Given the description of an element on the screen output the (x, y) to click on. 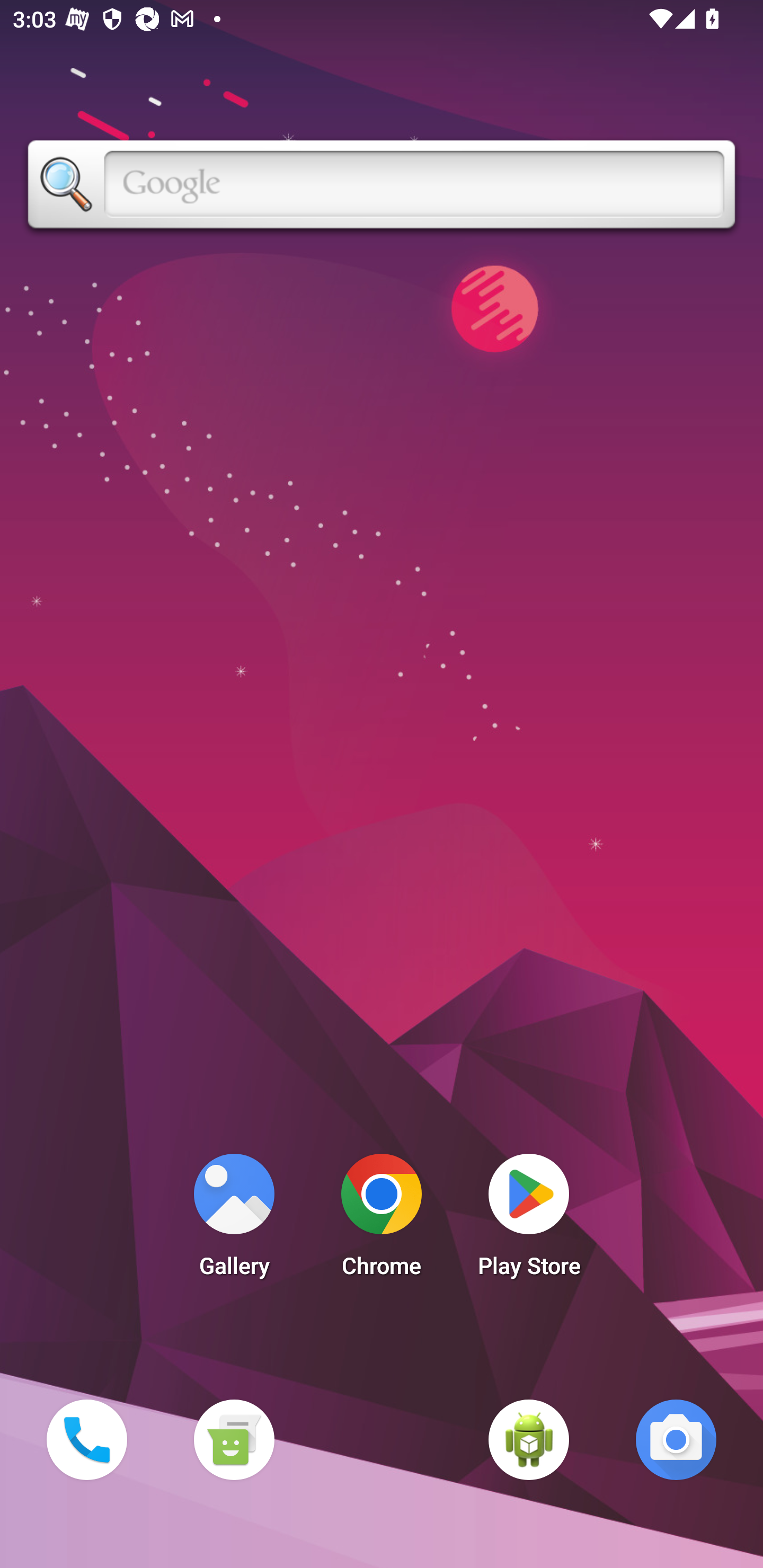
Gallery (233, 1220)
Chrome (381, 1220)
Play Store (528, 1220)
Phone (86, 1439)
Messaging (233, 1439)
WebView Browser Tester (528, 1439)
Camera (676, 1439)
